Given the description of an element on the screen output the (x, y) to click on. 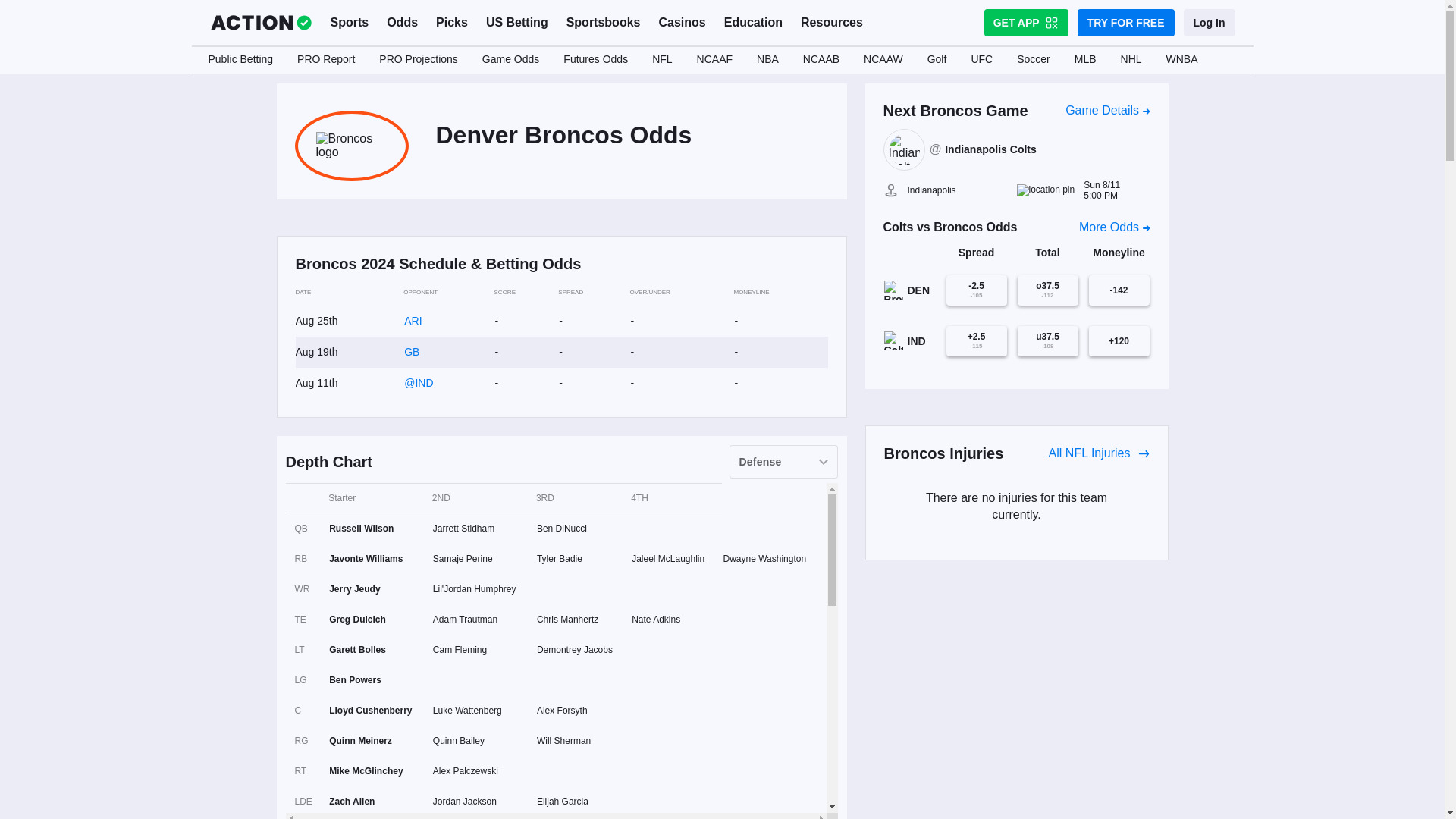
NBA (767, 59)
UFC (981, 59)
Sportsbooks (603, 23)
NCAAF (714, 59)
ARI (413, 320)
Casinos (681, 23)
Picks (451, 23)
NFL (662, 59)
WNBA (1181, 59)
PRO Report (325, 59)
Soccer (1033, 59)
TRY FOR FREE (1125, 22)
PRO Projections (417, 59)
NCAAW (883, 59)
Education (753, 23)
